Given the description of an element on the screen output the (x, y) to click on. 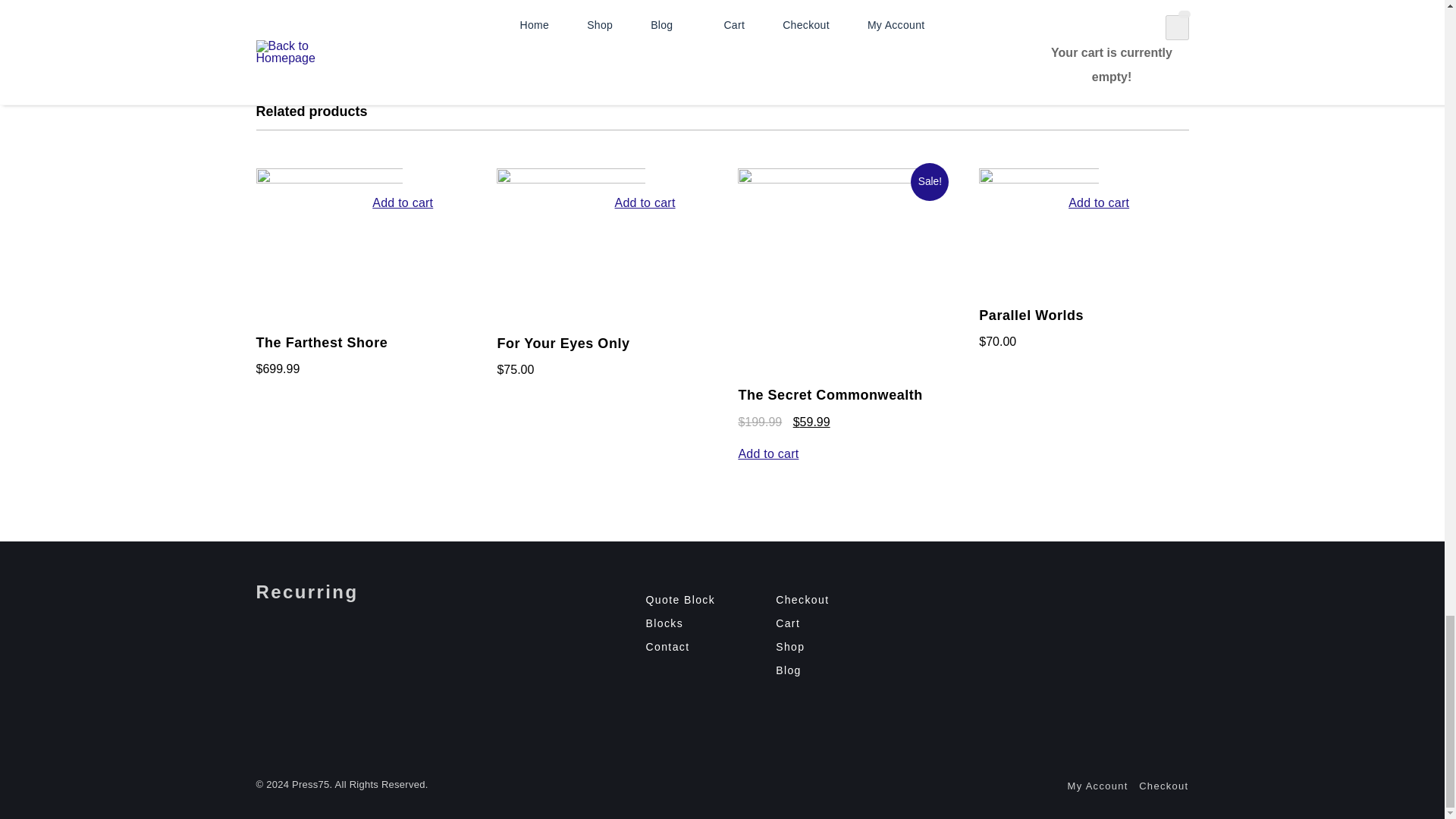
Add to cart (402, 288)
